Given the description of an element on the screen output the (x, y) to click on. 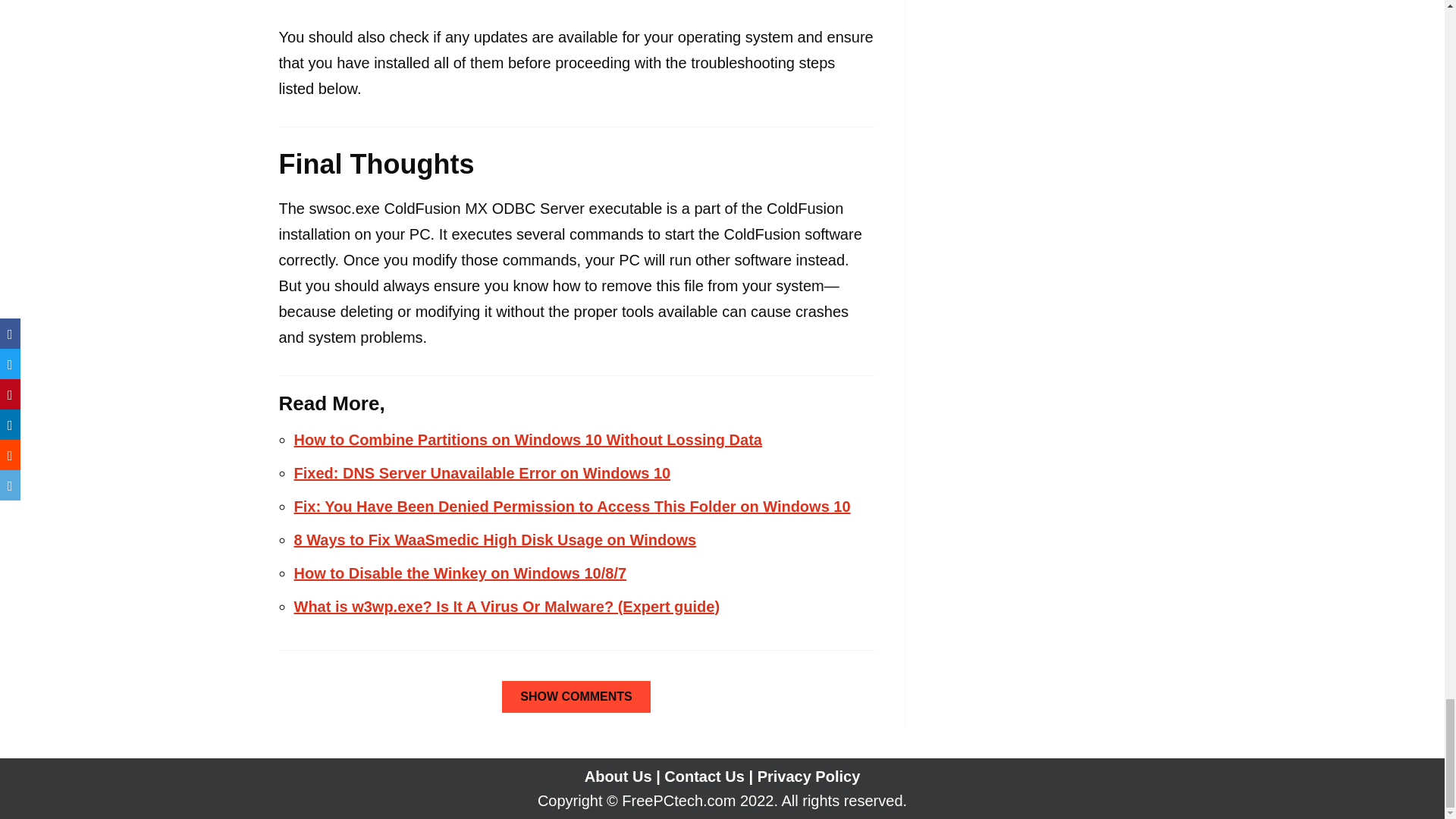
How to Combine Partitions on Windows 10 Without Lossing Data (527, 439)
8 Ways to Fix WaaSmedic High Disk Usage on Windows (495, 539)
Fixed: DNS Server Unavailable Error on Windows 10 (482, 473)
